Given the description of an element on the screen output the (x, y) to click on. 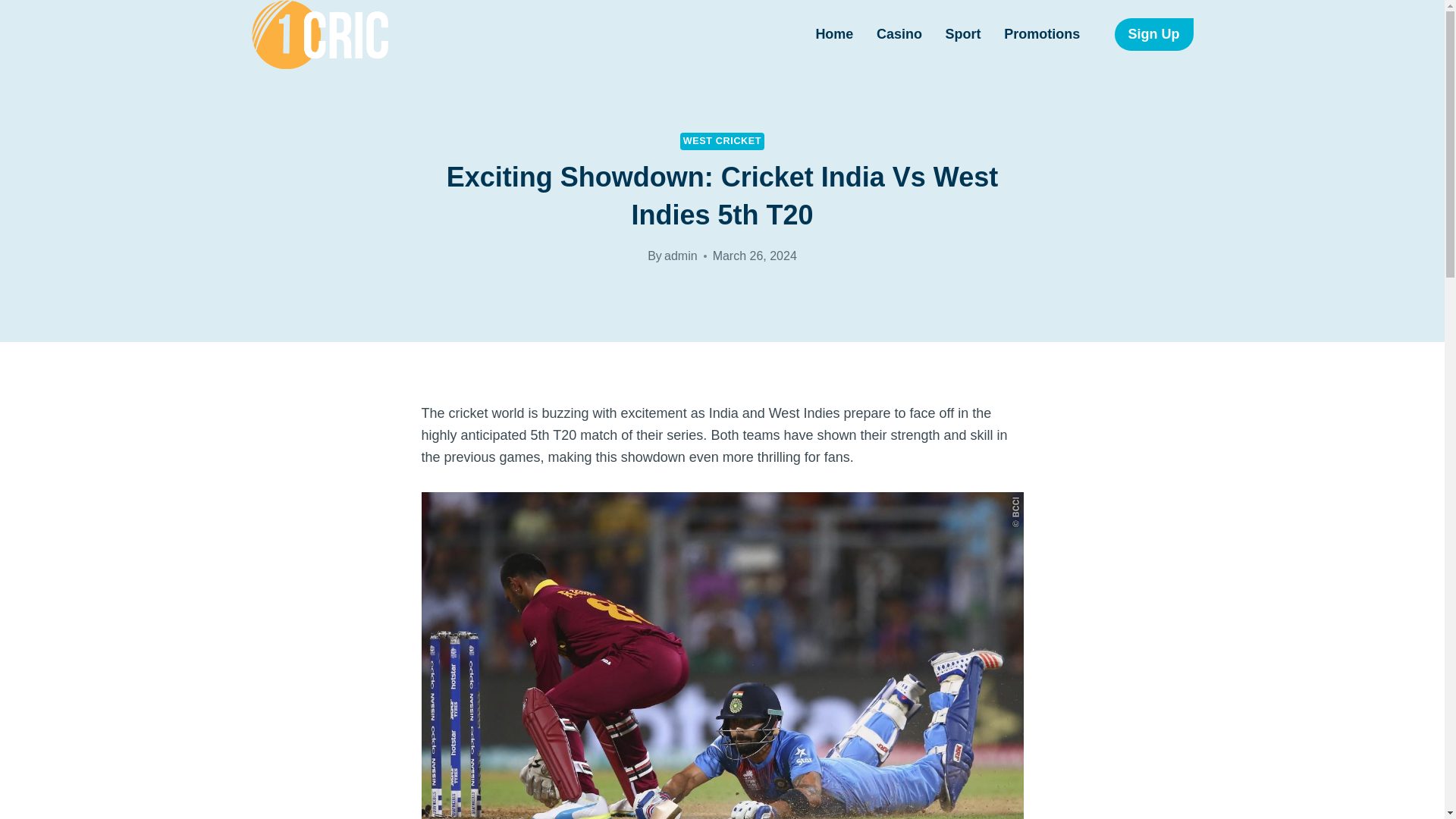
Sport (962, 34)
Promotions (1042, 34)
Casino (899, 34)
Home (833, 34)
admin (680, 255)
WEST CRICKET (721, 140)
Sign Up (1154, 34)
